Given the description of an element on the screen output the (x, y) to click on. 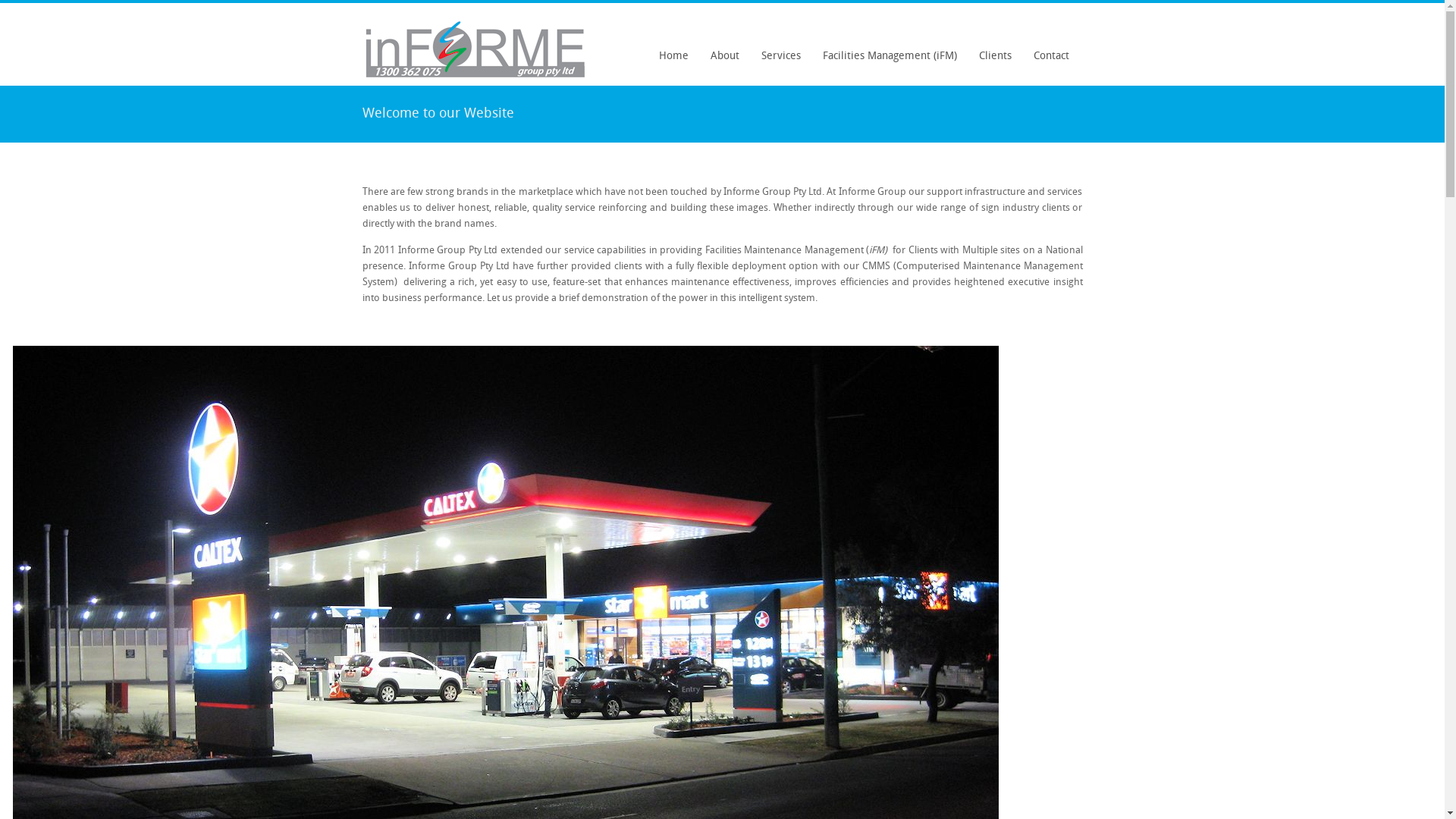
Home Element type: text (673, 56)
Contact Element type: text (1051, 56)
Facilities Management (iFM) Element type: text (889, 56)
Clients Element type: text (994, 56)
Services Element type: text (780, 56)
About Element type: text (724, 56)
